Given the description of an element on the screen output the (x, y) to click on. 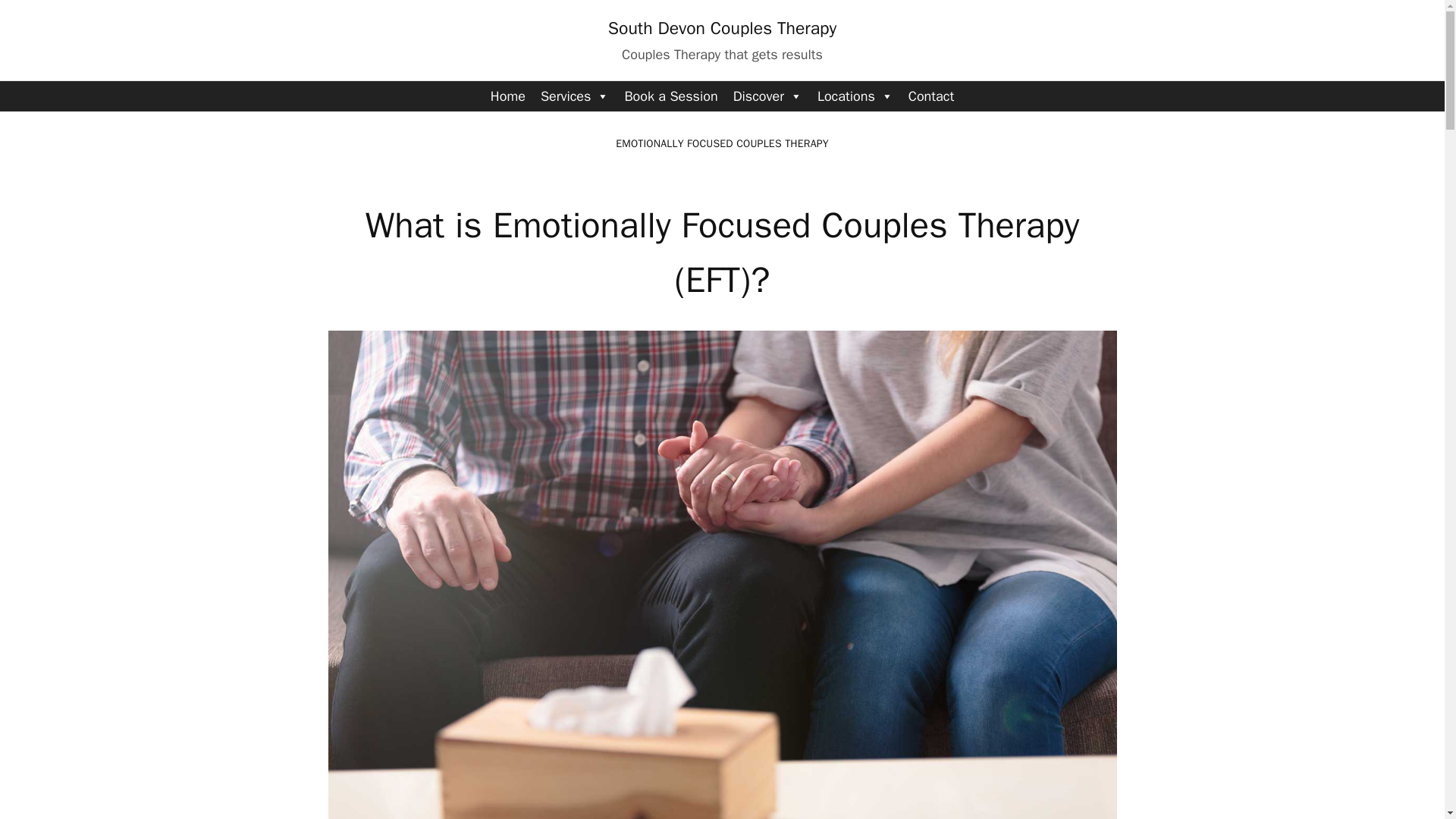
Contact (930, 96)
Book a Session (670, 96)
Discover (767, 96)
Home (507, 96)
Locations (855, 96)
South Devon Couples Therapy (721, 28)
Services (574, 96)
